Given the description of an element on the screen output the (x, y) to click on. 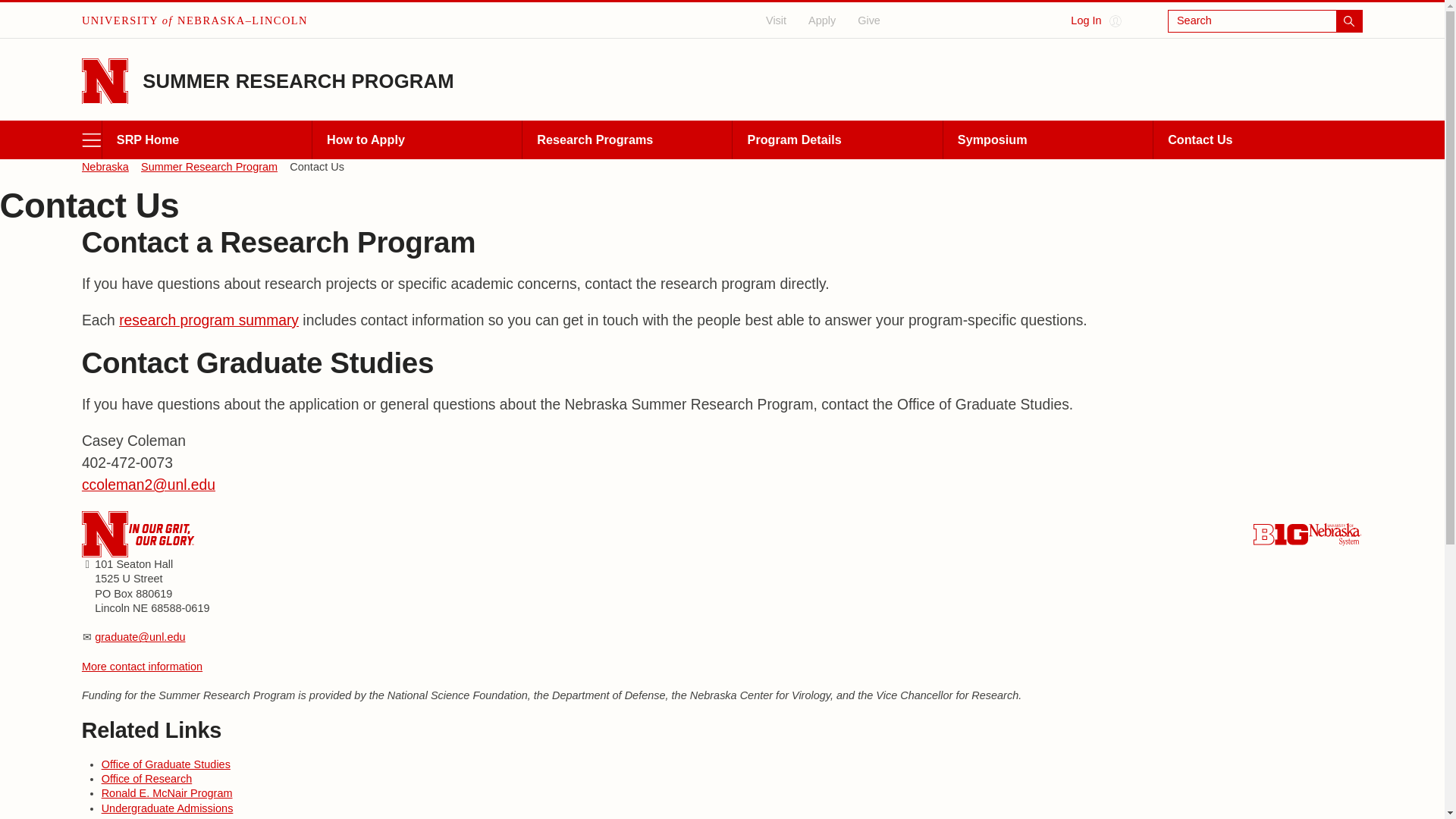
How to Apply (416, 139)
Visit (776, 20)
Skip to main content (13, 10)
Log In (1095, 21)
Apply (822, 20)
SUMMER RESEARCH PROGRAM (298, 79)
Program Details (837, 139)
SRP Home (206, 139)
Search (1264, 21)
Research Programs (626, 139)
